Given the description of an element on the screen output the (x, y) to click on. 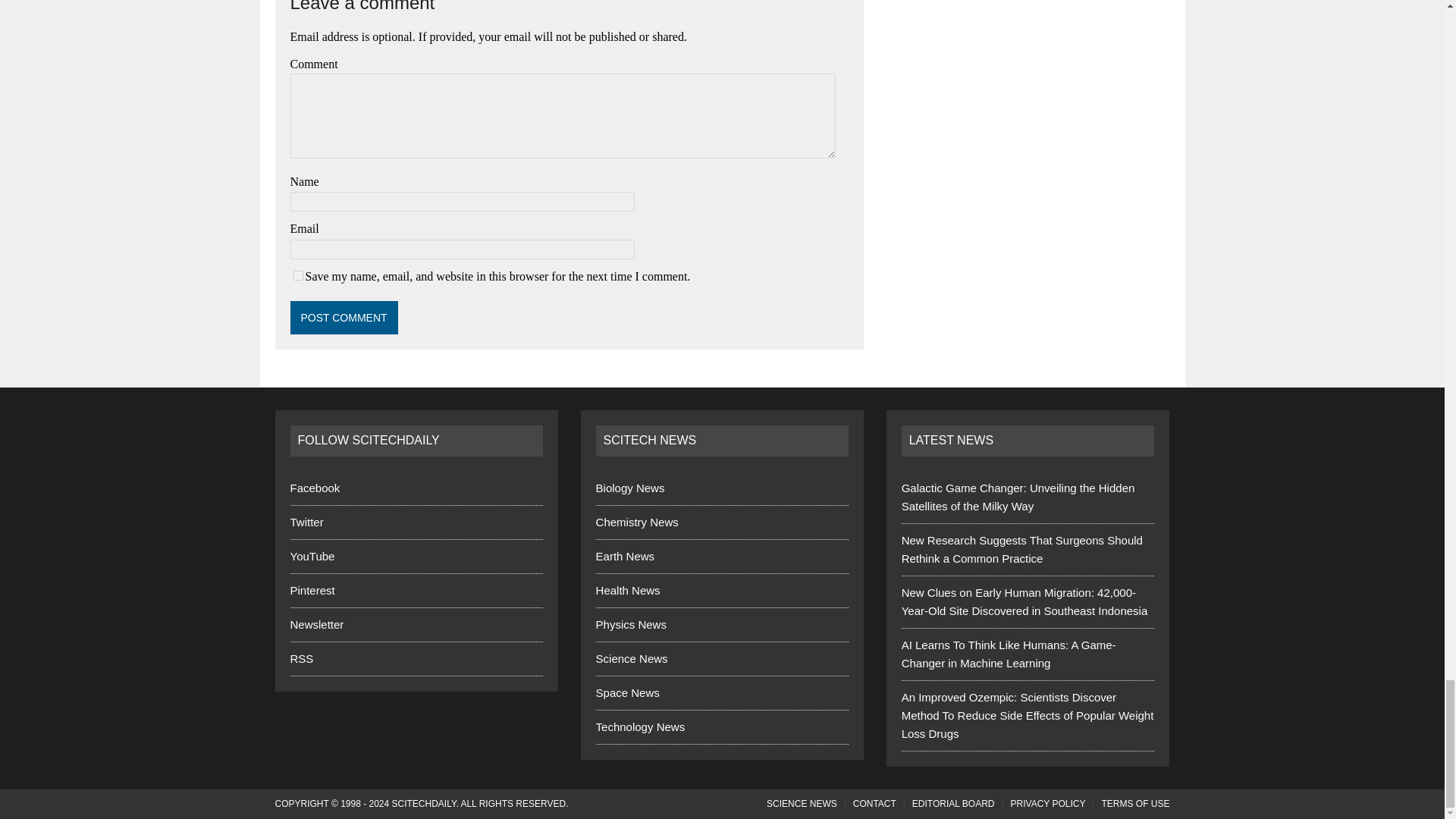
Post Comment (343, 317)
yes (297, 275)
